Given the description of an element on the screen output the (x, y) to click on. 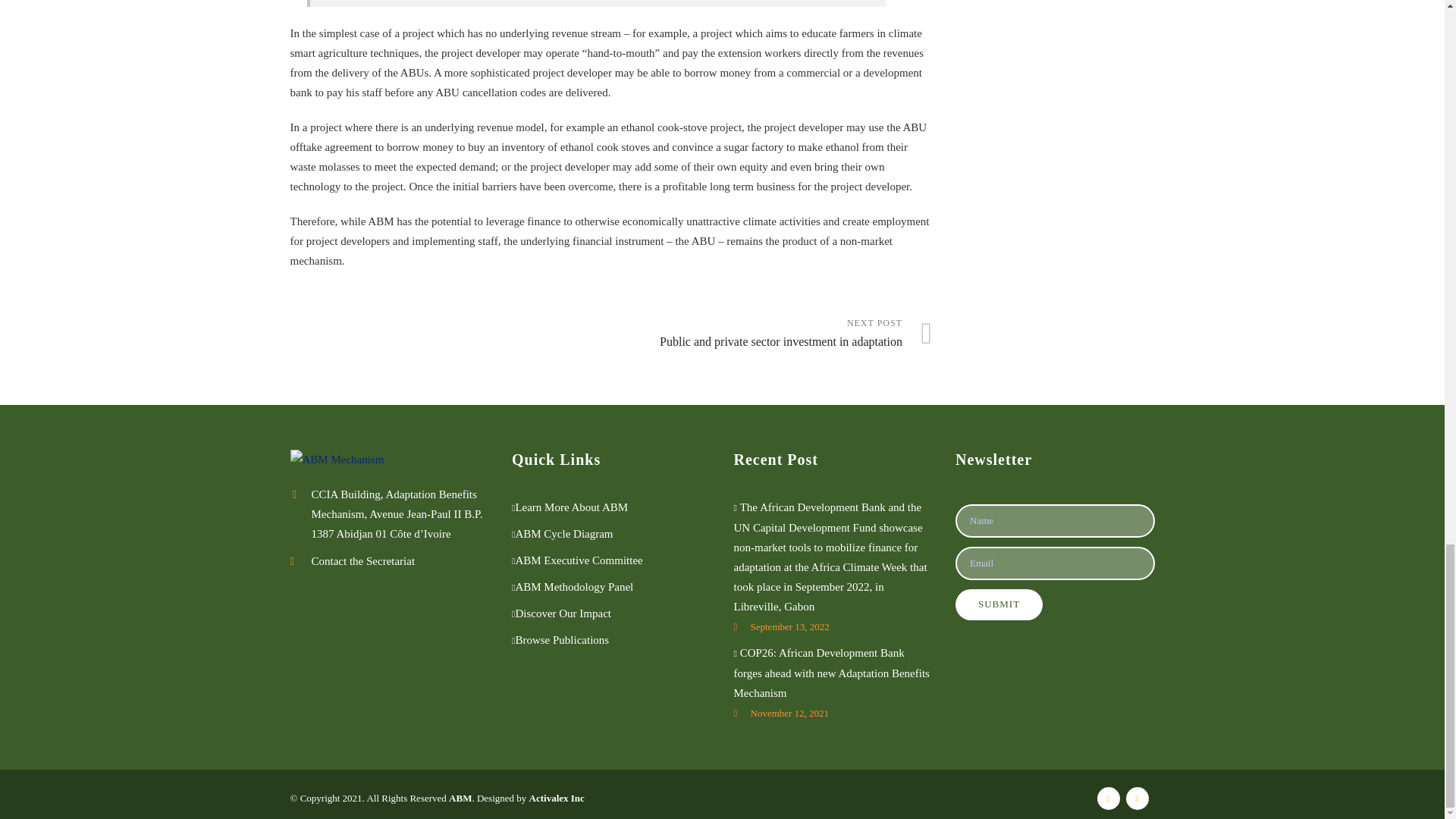
Email (772, 334)
Name (1054, 563)
Public and private sector investment in adaptation (1054, 520)
